Given the description of an element on the screen output the (x, y) to click on. 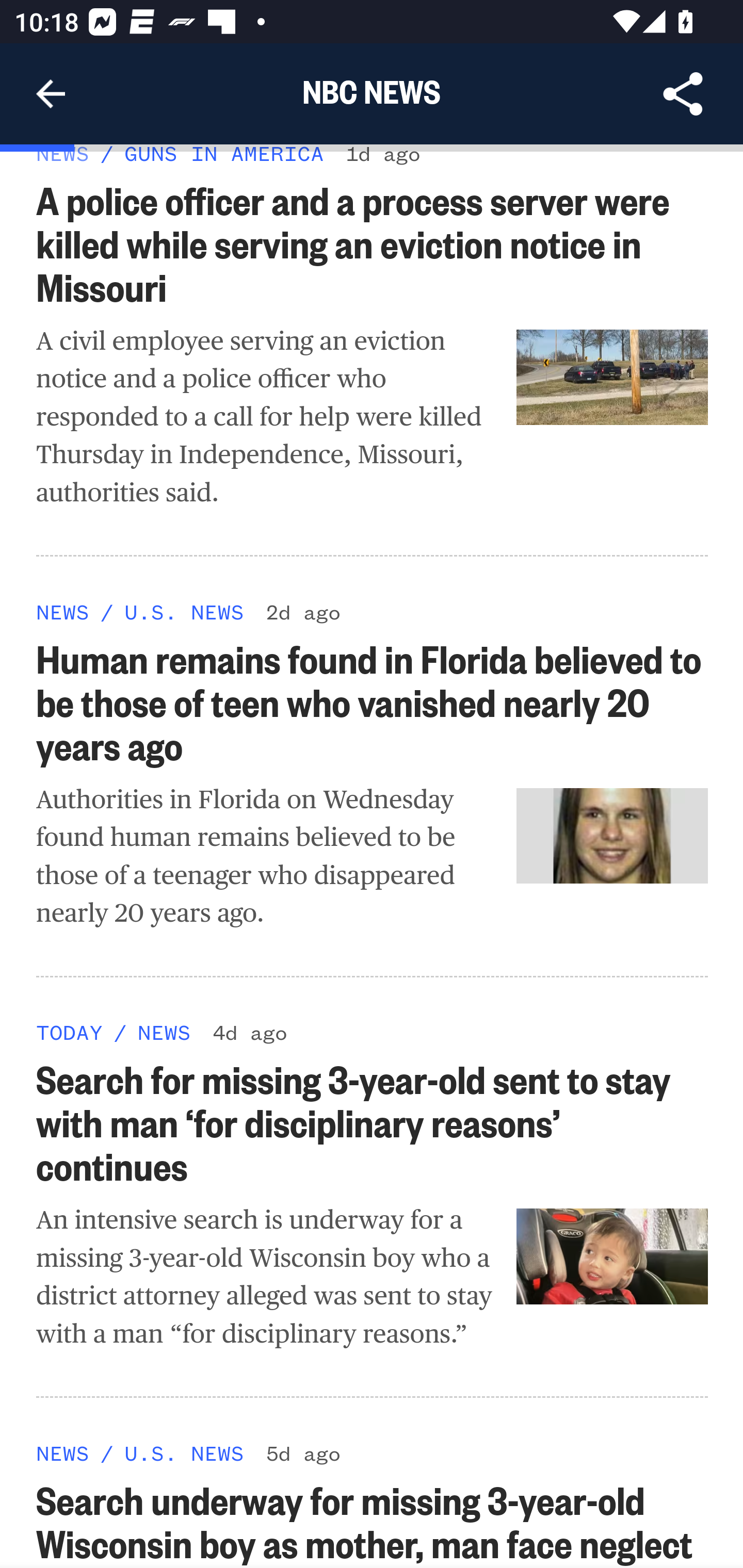
Navigate up (50, 93)
Share Article, button (683, 94)
NEWS NEWS NEWS (63, 155)
GUNS IN AMERICA GUNS IN AMERICA GUNS IN AMERICA (223, 155)
NEWS NEWS NEWS (63, 611)
U.S. NEWS U.S. NEWS U.S. NEWS (183, 611)
TODAY TODAY TODAY (69, 1032)
NEWS NEWS NEWS (164, 1032)
NEWS NEWS NEWS (63, 1453)
U.S. NEWS U.S. NEWS U.S. NEWS (183, 1453)
